Given the description of an element on the screen output the (x, y) to click on. 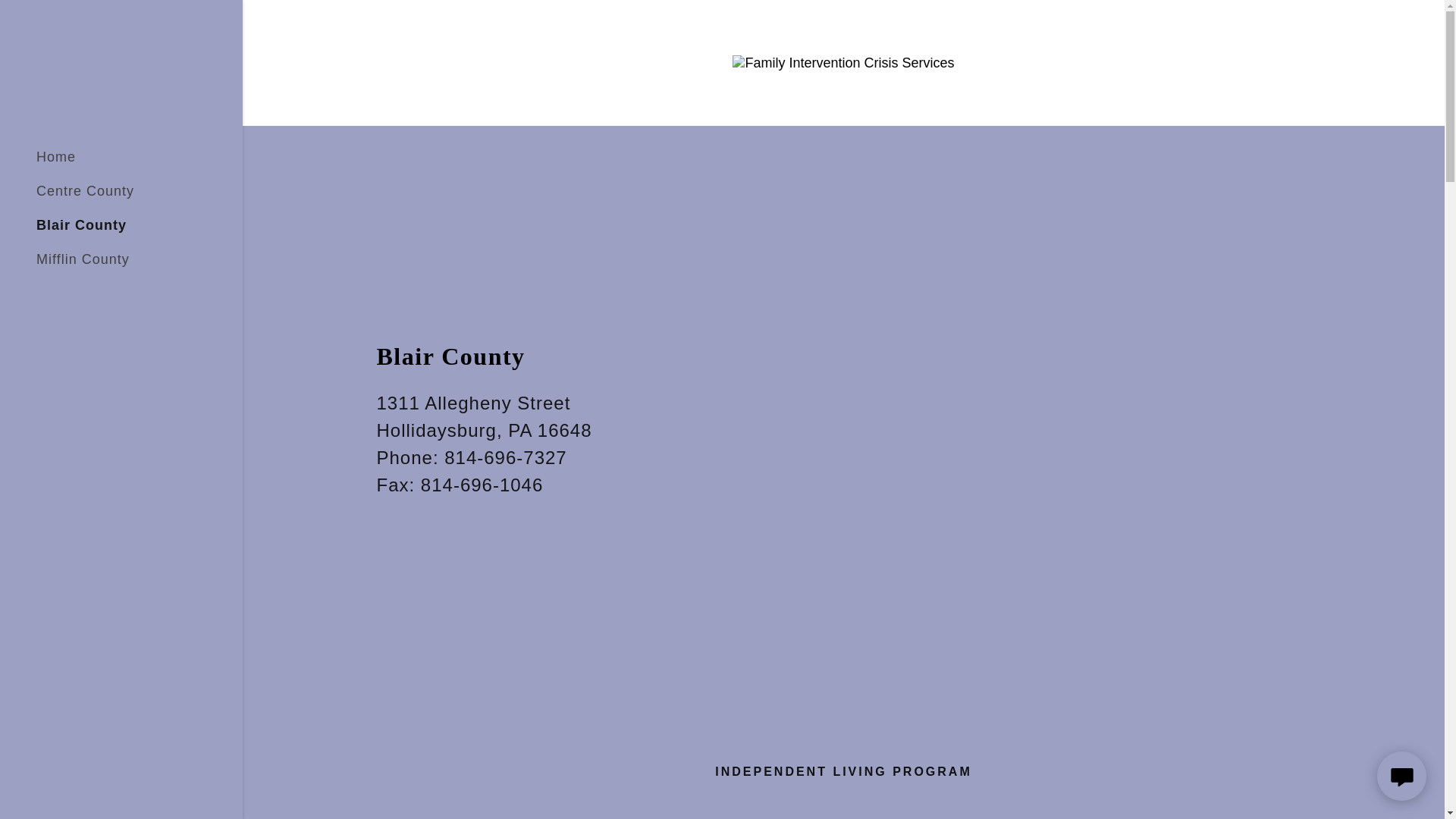
Centre County (84, 191)
Blair County (81, 224)
Mifflin County (82, 258)
Home (55, 156)
